Given the description of an element on the screen output the (x, y) to click on. 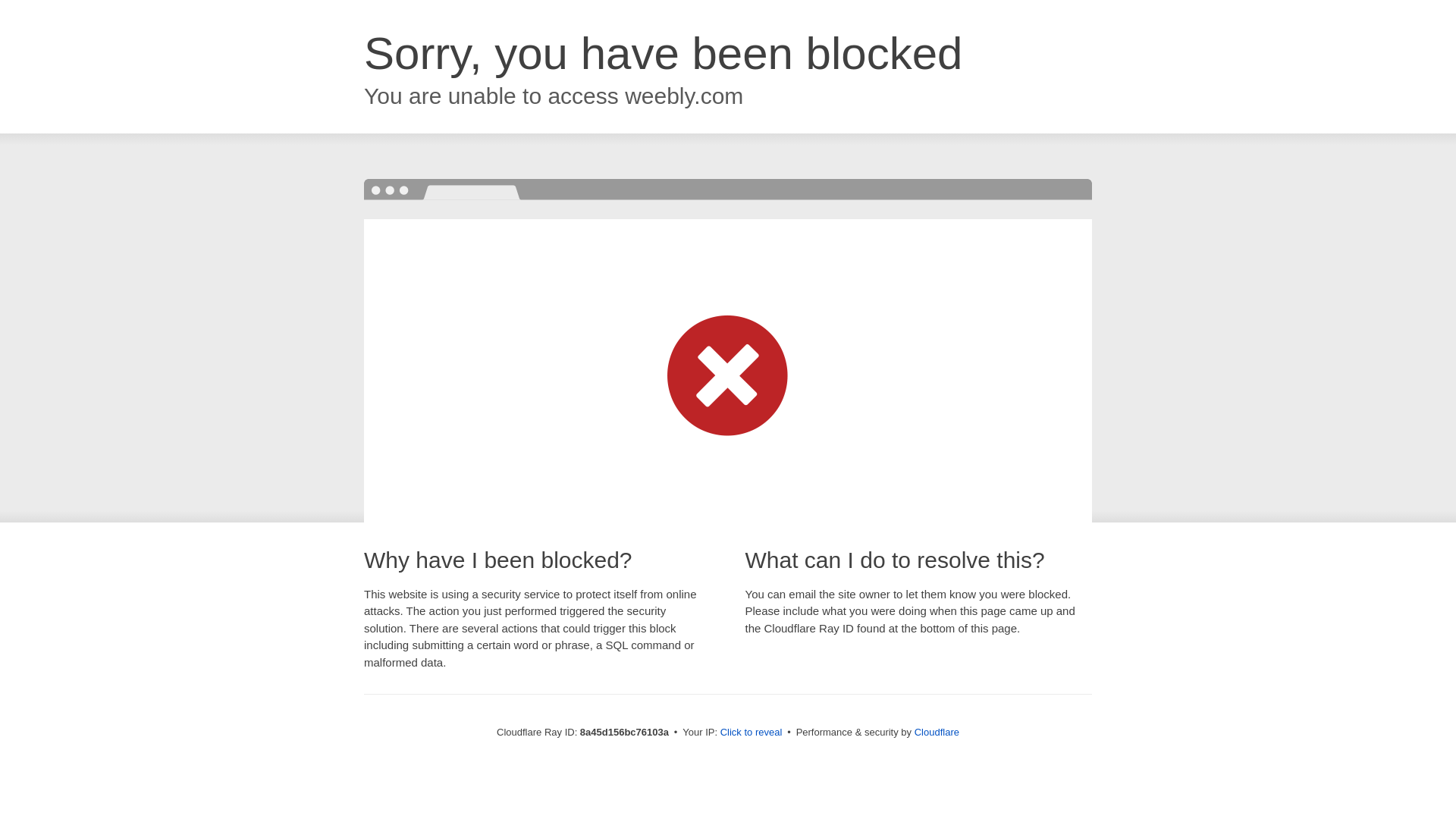
Click to reveal (751, 732)
Cloudflare (936, 731)
